Given the description of an element on the screen output the (x, y) to click on. 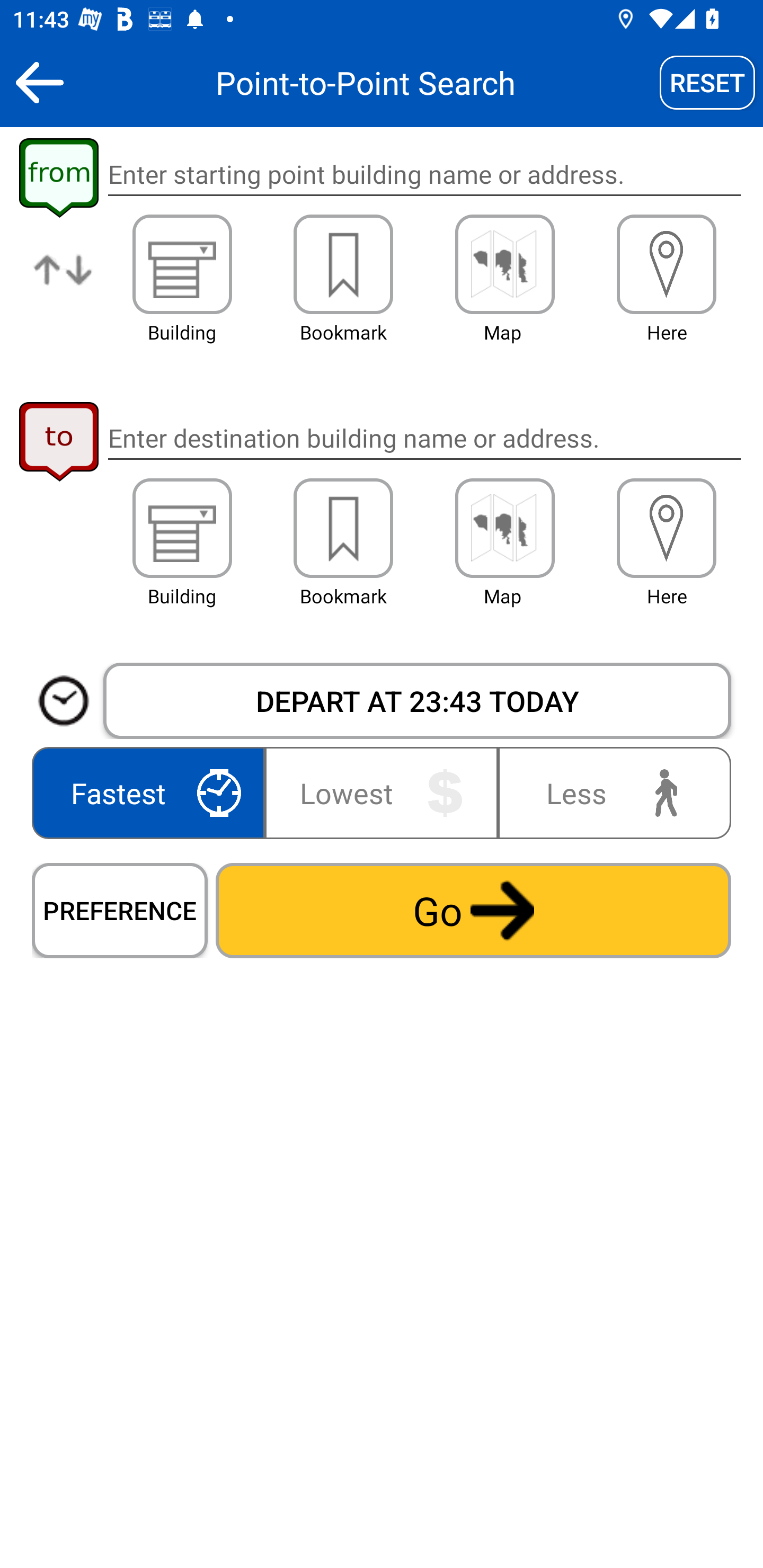
Back (39, 82)
RESET Reset (707, 81)
Enter starting point building name or address. (423, 174)
Building (181, 263)
Bookmarks (342, 263)
Select location on map (504, 263)
Here (666, 263)
Swap origin and destination (63, 284)
Enter destination building name or address. (423, 437)
Building (181, 528)
Bookmarks (342, 528)
Select location on map (504, 528)
Here (666, 528)
Lowest (381, 792)
Fastest selected (151, 792)
Less (610, 792)
PREFERENCE Preference (119, 910)
Go (472, 910)
